Given the description of an element on the screen output the (x, y) to click on. 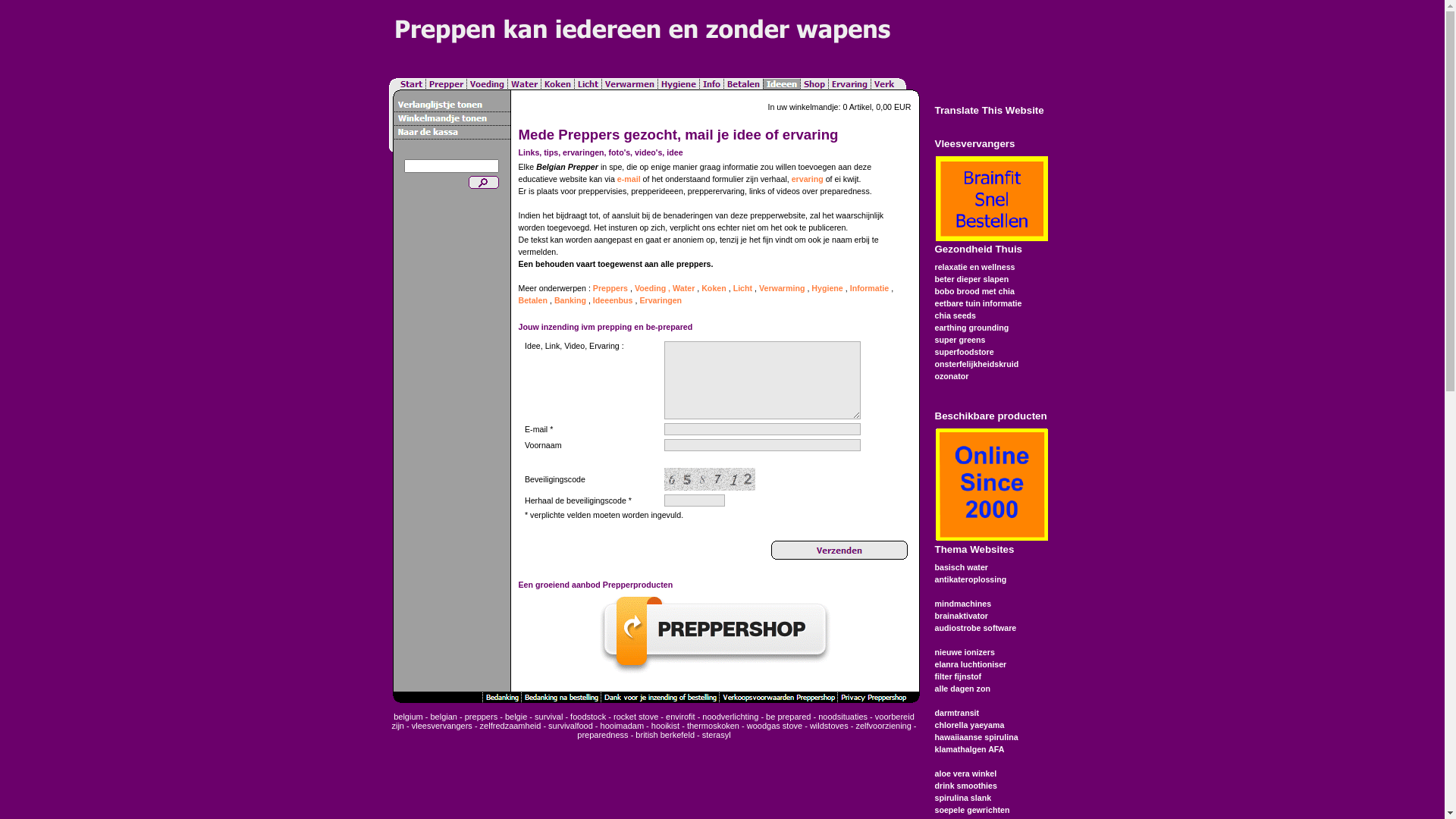
spirulina slank Element type: text (962, 797)
e-mail Element type: text (628, 178)
chlorella yaeyama Element type: text (969, 724)
Betalen Element type: text (533, 299)
brainaktivator Element type: text (960, 615)
Ervaringen Element type: text (660, 299)
Licht Element type: text (742, 287)
Hygiene Element type: text (826, 287)
klamathalgen AFA Element type: text (969, 748)
Voeding , Element type: text (652, 287)
drink smoothies Element type: text (965, 785)
ervaring Element type: text (807, 178)
darmtransit Element type: text (956, 712)
alle dagen zon Element type: text (961, 688)
beter dieper slapen Element type: text (971, 278)
chia seeds Element type: text (954, 315)
filter fijnstof Element type: text (957, 675)
basisch water Element type: text (960, 566)
eetbare tuin informatie Element type: text (977, 302)
Ideeenbus Element type: text (613, 299)
onsterfelijkheidskruid Element type: text (976, 363)
nieuwe ionizers Element type: text (964, 651)
super greens Element type: text (959, 339)
soepele gewrichten Element type: text (971, 809)
relaxatie en wellness Element type: text (974, 266)
ozonator Element type: text (951, 375)
Preppers Element type: text (610, 287)
Water Element type: text (683, 287)
audiostrobe software Element type: text (975, 627)
aloe vera winkel Element type: text (965, 773)
hawaiiaanse spirulina Element type: text (975, 736)
superfoodstore Element type: text (963, 351)
earthing grounding Element type: text (971, 327)
Banking Element type: text (570, 299)
Informatie Element type: text (869, 287)
Verwarming Element type: text (781, 287)
bobo brood met chia Element type: text (973, 290)
elanra luchtioniser Element type: text (970, 663)
Koken Element type: text (713, 287)
antikateroplossing Element type: text (970, 578)
mindmachines Element type: text (962, 603)
